Given the description of an element on the screen output the (x, y) to click on. 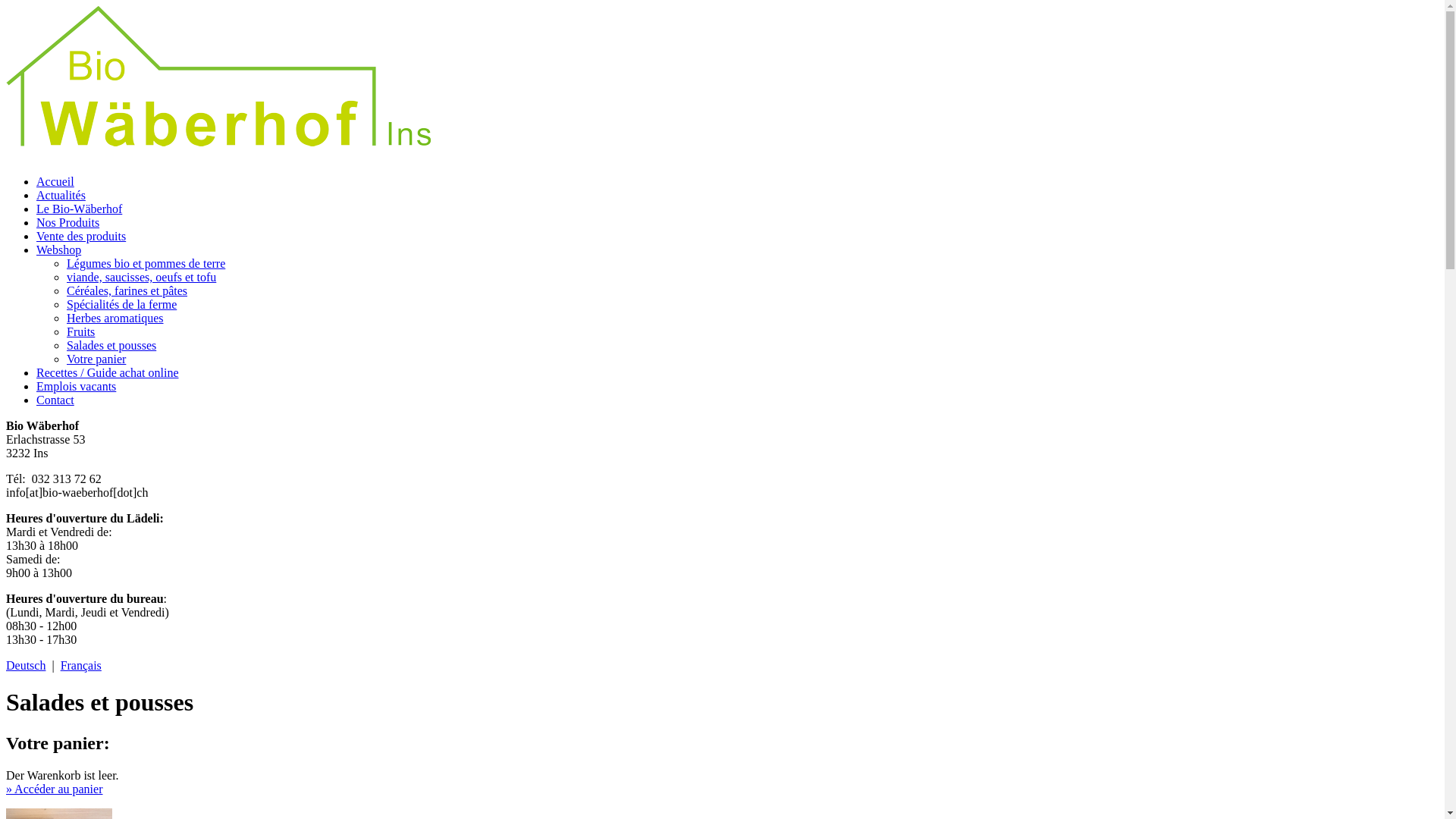
Webshop Element type: text (58, 249)
Fruits Element type: text (80, 331)
Salades et pousses Element type: text (111, 344)
Contact Element type: text (55, 399)
Vente des produits Element type: text (80, 235)
Accueil Element type: text (55, 181)
Herbes aromatiques Element type: text (114, 317)
Deutsch Element type: text (25, 664)
Nos Produits Element type: text (67, 222)
viande, saucisses, oeufs et tofu Element type: text (141, 276)
Recettes / Guide achat online Element type: text (107, 372)
Votre panier Element type: text (95, 358)
Emplois vacants Element type: text (76, 385)
